Given the description of an element on the screen output the (x, y) to click on. 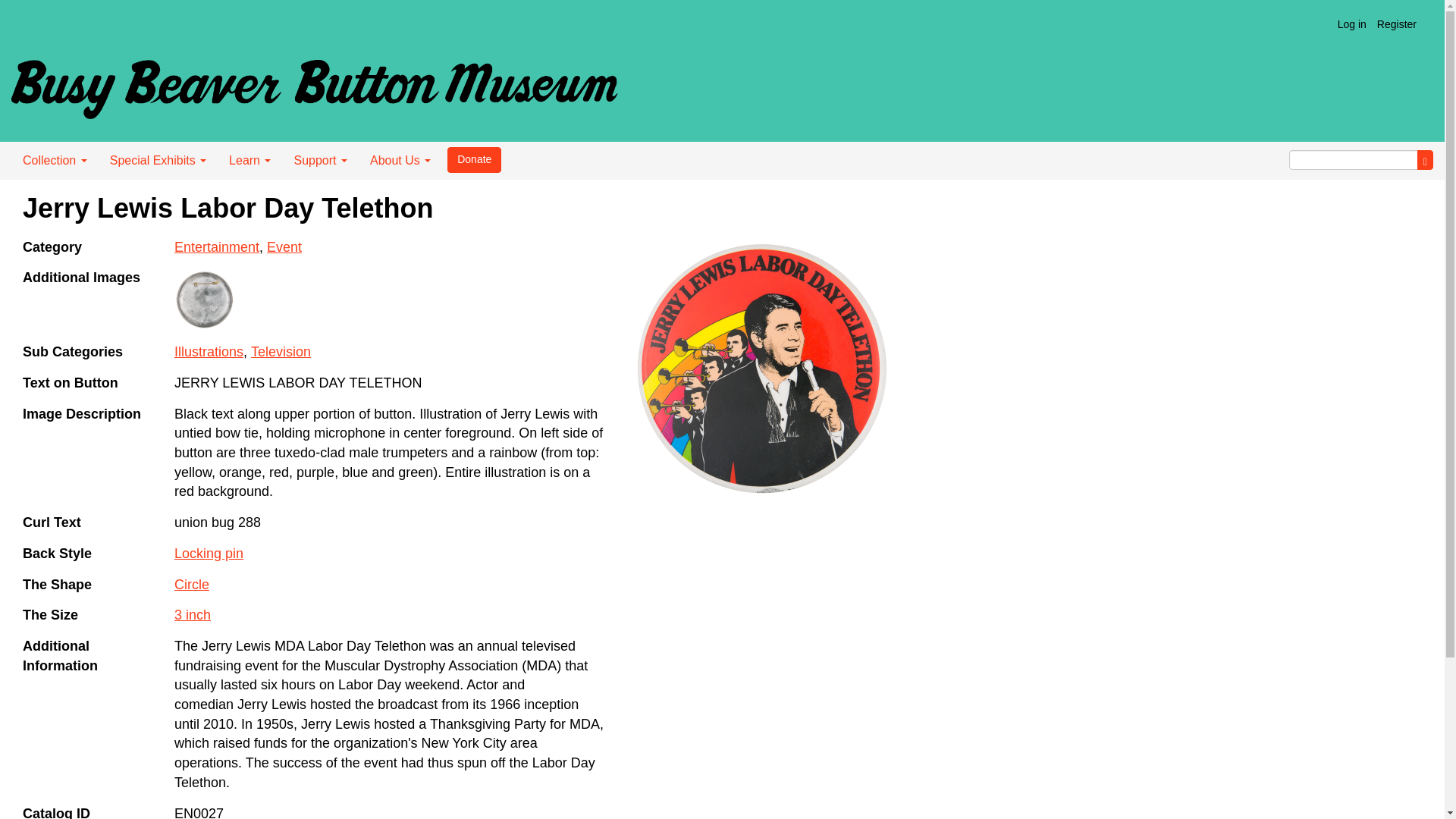
Locking pin (208, 553)
Donate (473, 159)
Register (1396, 23)
Jerry Lewis Labor Day Telethon back  (204, 300)
Circle (191, 584)
Log in (1351, 23)
Television (280, 351)
Collection (55, 160)
Special Exhibits (157, 160)
Entertainment (216, 246)
Home (314, 83)
Illustrations (208, 351)
Event (283, 246)
Donate (473, 159)
